Given the description of an element on the screen output the (x, y) to click on. 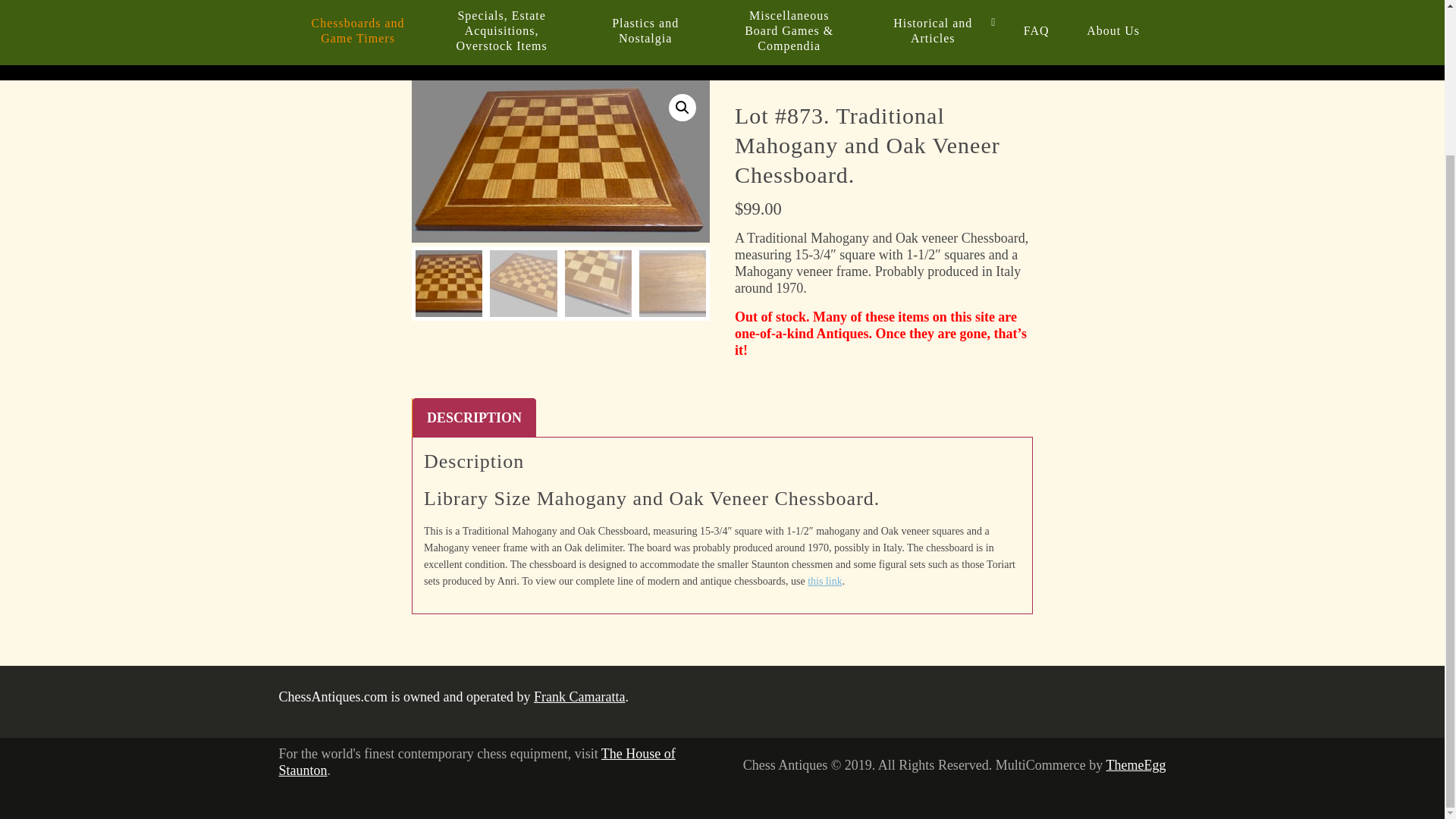
Traditional Mahogany and Oak Chessboard (858, 191)
FAQ (1036, 30)
Traditional Mahogany and Oak Chessboard (561, 161)
Plastics and Nostalgia (645, 30)
About Us (1113, 30)
Specials, Estate Acquisitions, Overstock Items (502, 31)
Historical and Articles (932, 30)
Chessboards and Game Timers (358, 30)
